Given the description of an element on the screen output the (x, y) to click on. 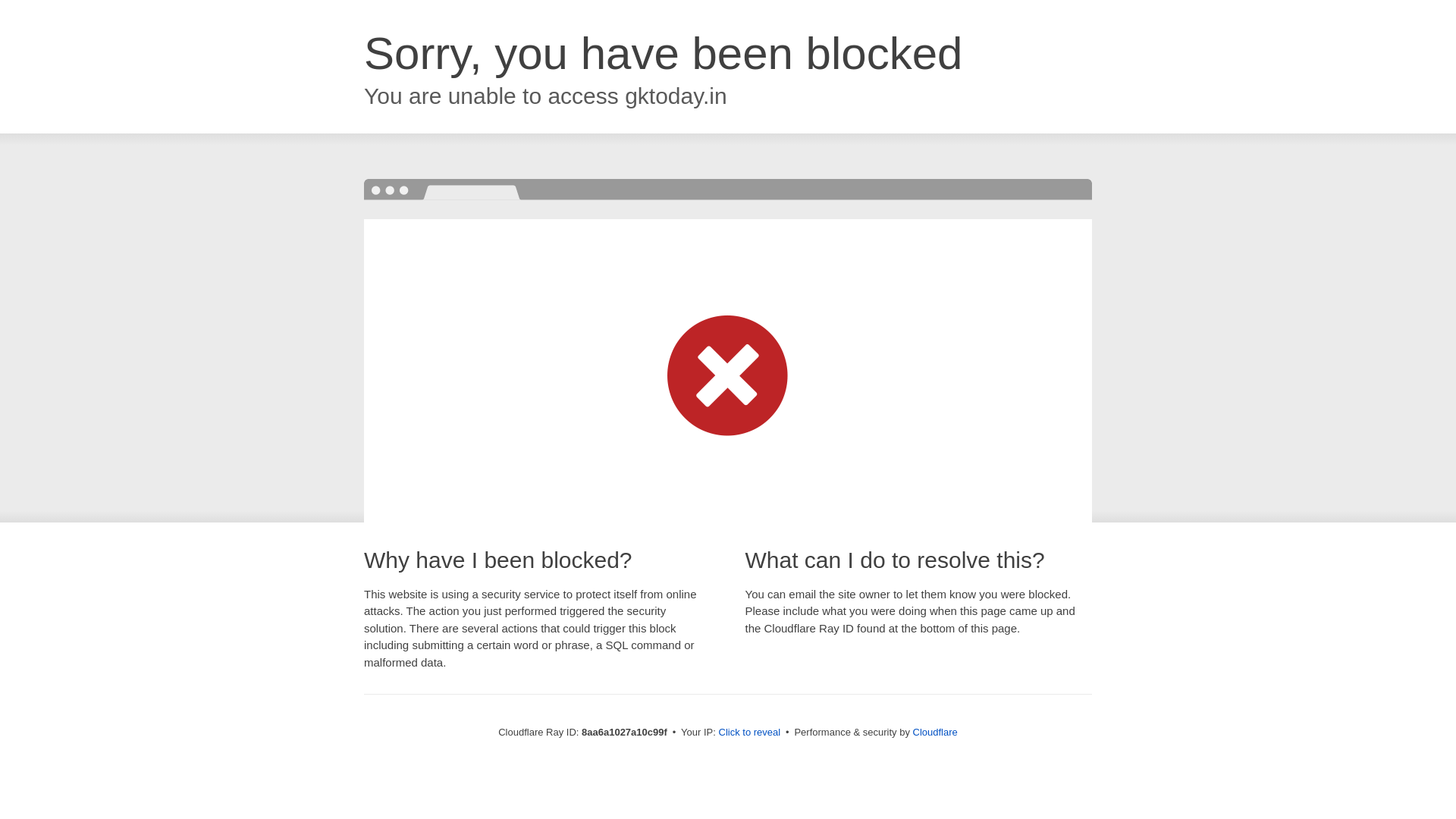
Cloudflare (935, 731)
Click to reveal (749, 732)
